Given the description of an element on the screen output the (x, y) to click on. 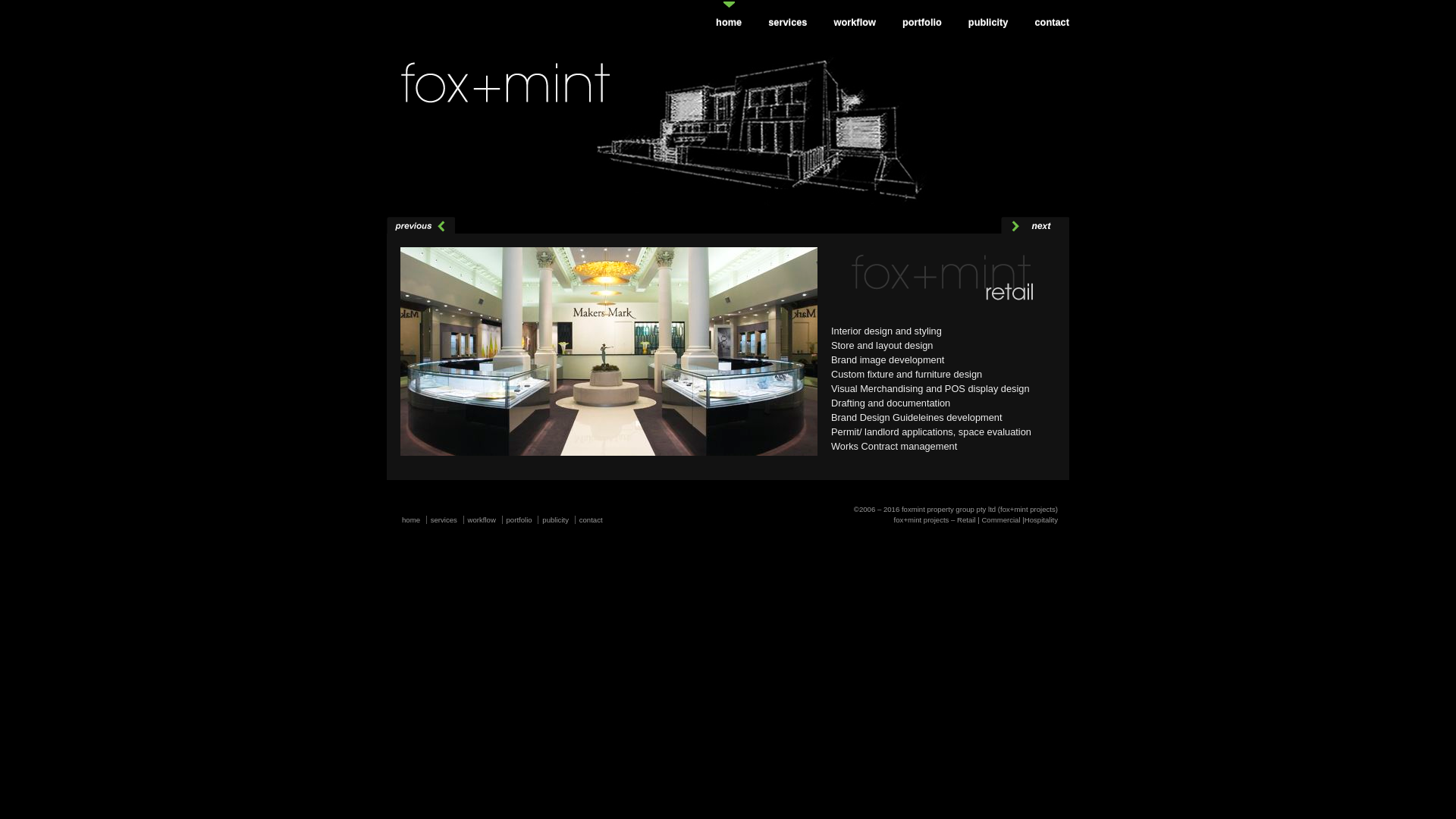
services Element type: text (787, 22)
home Element type: text (728, 21)
home Element type: text (728, 22)
workflow Element type: text (854, 22)
portfolio Element type: text (921, 22)
contact Element type: text (1051, 22)
workflow Element type: text (854, 21)
contact Element type: text (590, 519)
publicity Element type: text (988, 22)
publicity Element type: text (555, 519)
home Element type: text (410, 519)
workflow Element type: text (481, 519)
contact Element type: text (1051, 21)
services Element type: text (443, 519)
services Element type: text (787, 21)
portfolio Element type: text (519, 519)
publicity Element type: text (988, 21)
portfolio Element type: text (921, 21)
